Given the description of an element on the screen output the (x, y) to click on. 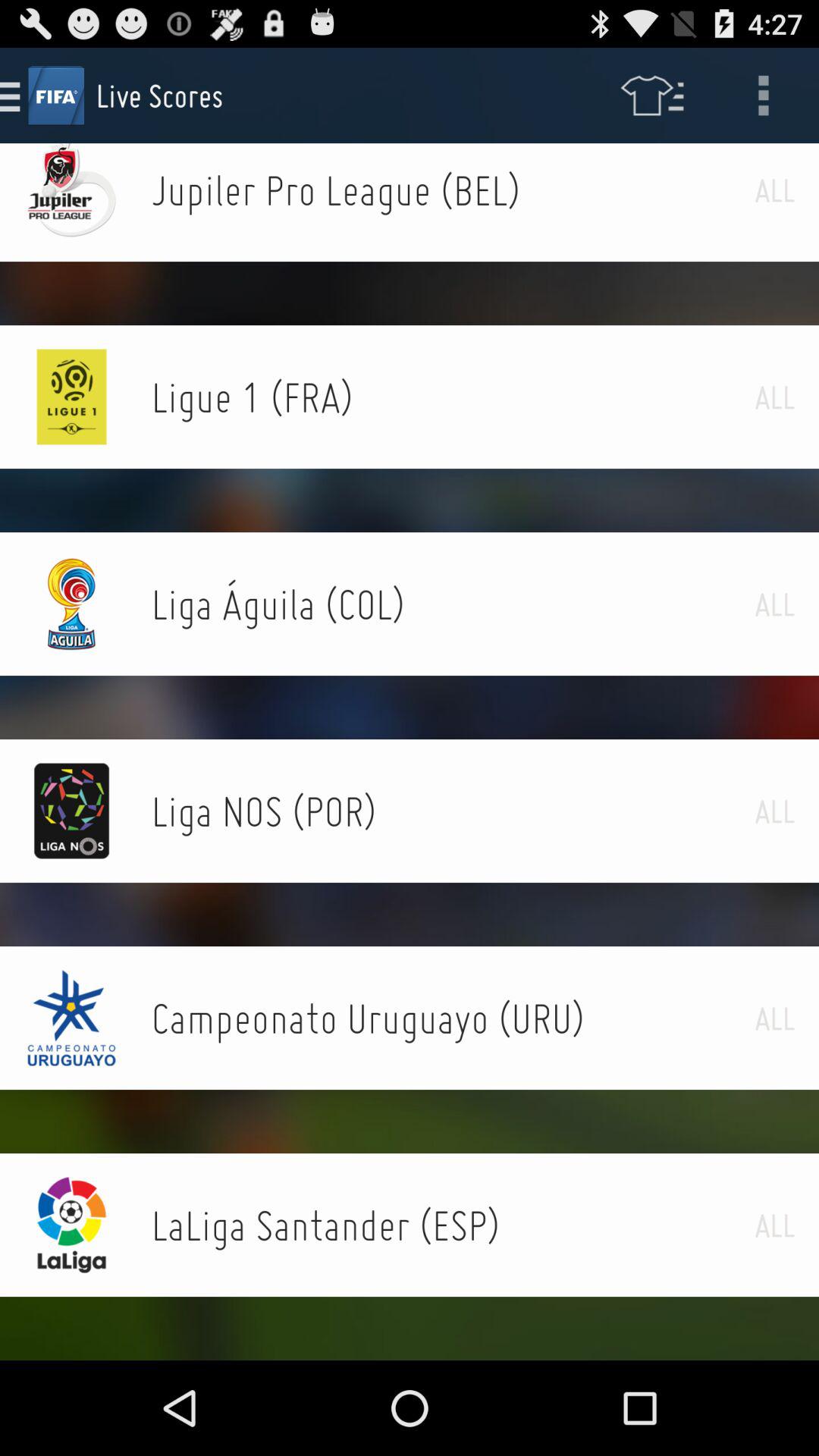
open ligue 1 (fra) icon (452, 396)
